Given the description of an element on the screen output the (x, y) to click on. 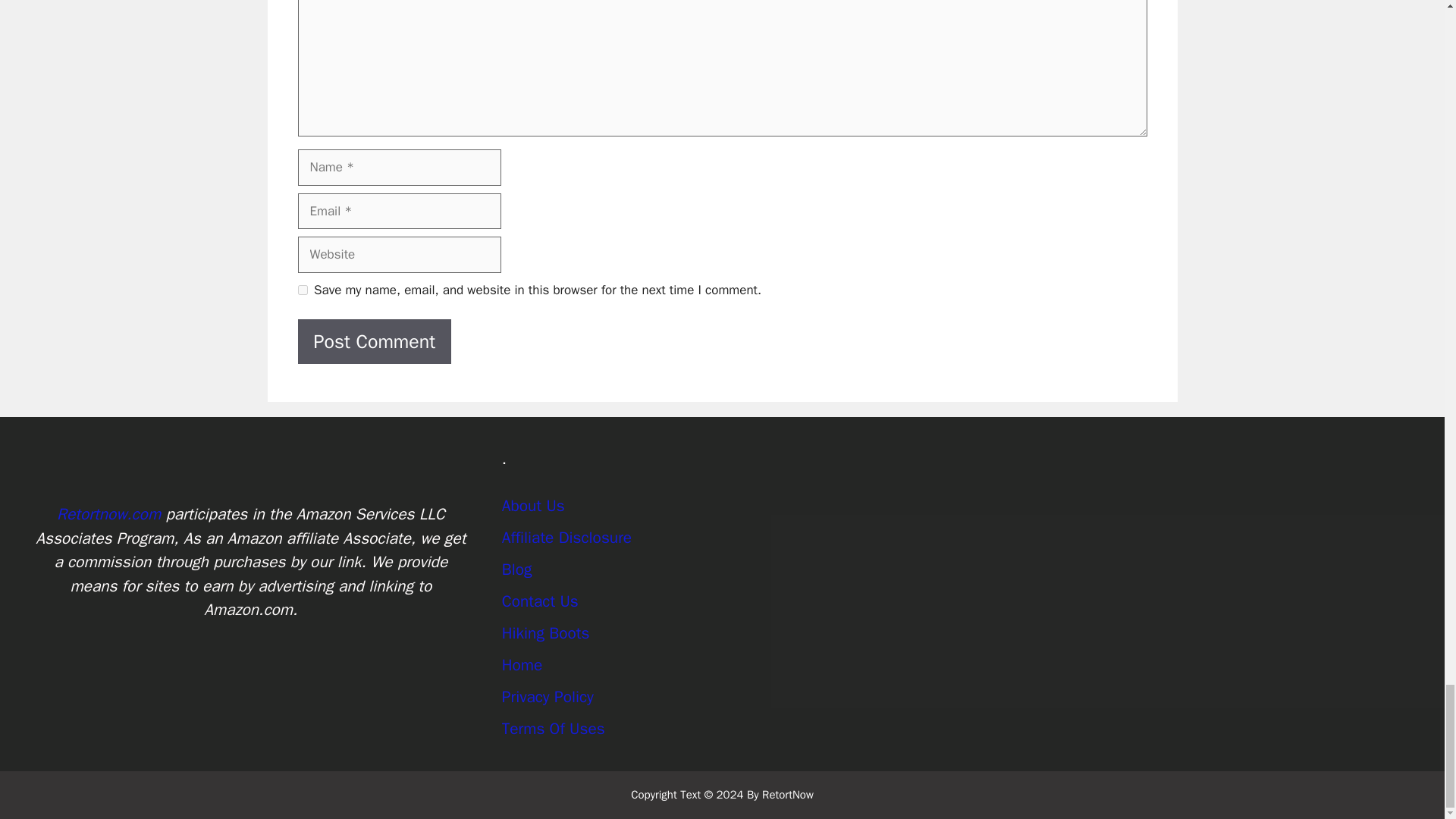
Post Comment (374, 341)
Post Comment (374, 341)
Hiking Boots (545, 632)
yes (302, 289)
Blog (517, 569)
About Us (533, 505)
Retortnow.com (108, 514)
Affiliate Disclosure (566, 537)
Contact Us (540, 600)
